Given the description of an element on the screen output the (x, y) to click on. 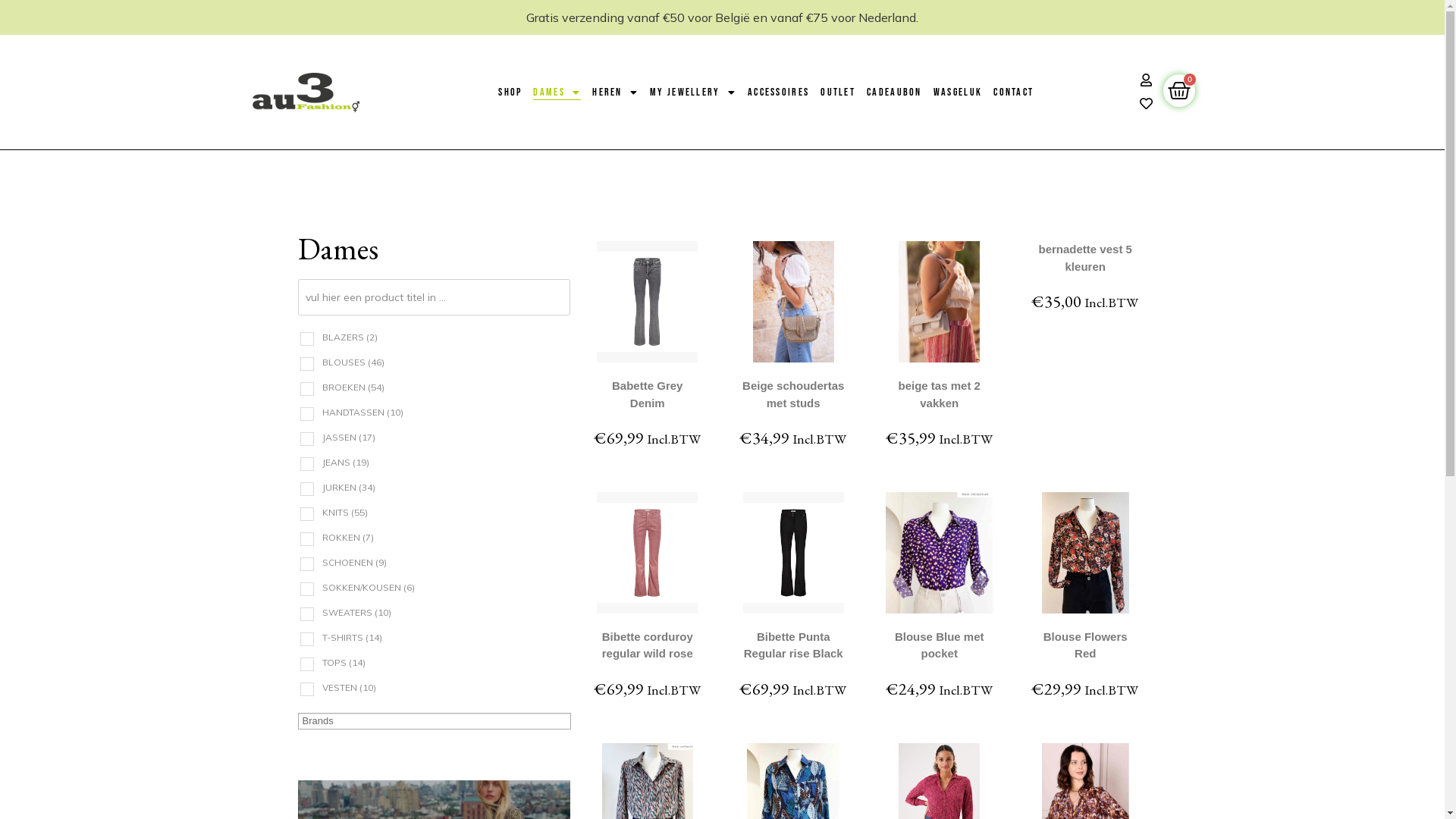
My Jewellery Element type: text (692, 92)
Outlet Element type: text (837, 92)
Cadeaubon Element type: text (894, 92)
Contact Element type: text (1013, 92)
Babette Grey Denim Element type: text (646, 394)
beige tas met 2 vakken Element type: text (939, 394)
Bibette Punta Regular rise Black Element type: text (793, 645)
bernadette vest 5 kleuren Element type: text (1085, 257)
Beige schoudertas met studs Element type: text (793, 394)
Blouse Blue met pocket Element type: text (939, 645)
Shop Element type: text (509, 92)
Bibette corduroy regular wild rose Element type: text (647, 645)
Accessoires Element type: text (778, 92)
Wasgeluk Element type: text (957, 92)
Blouse Flowers Red Element type: text (1085, 645)
Heren Element type: text (615, 92)
Dames Element type: text (556, 92)
0 Element type: text (1179, 90)
